Given the description of an element on the screen output the (x, y) to click on. 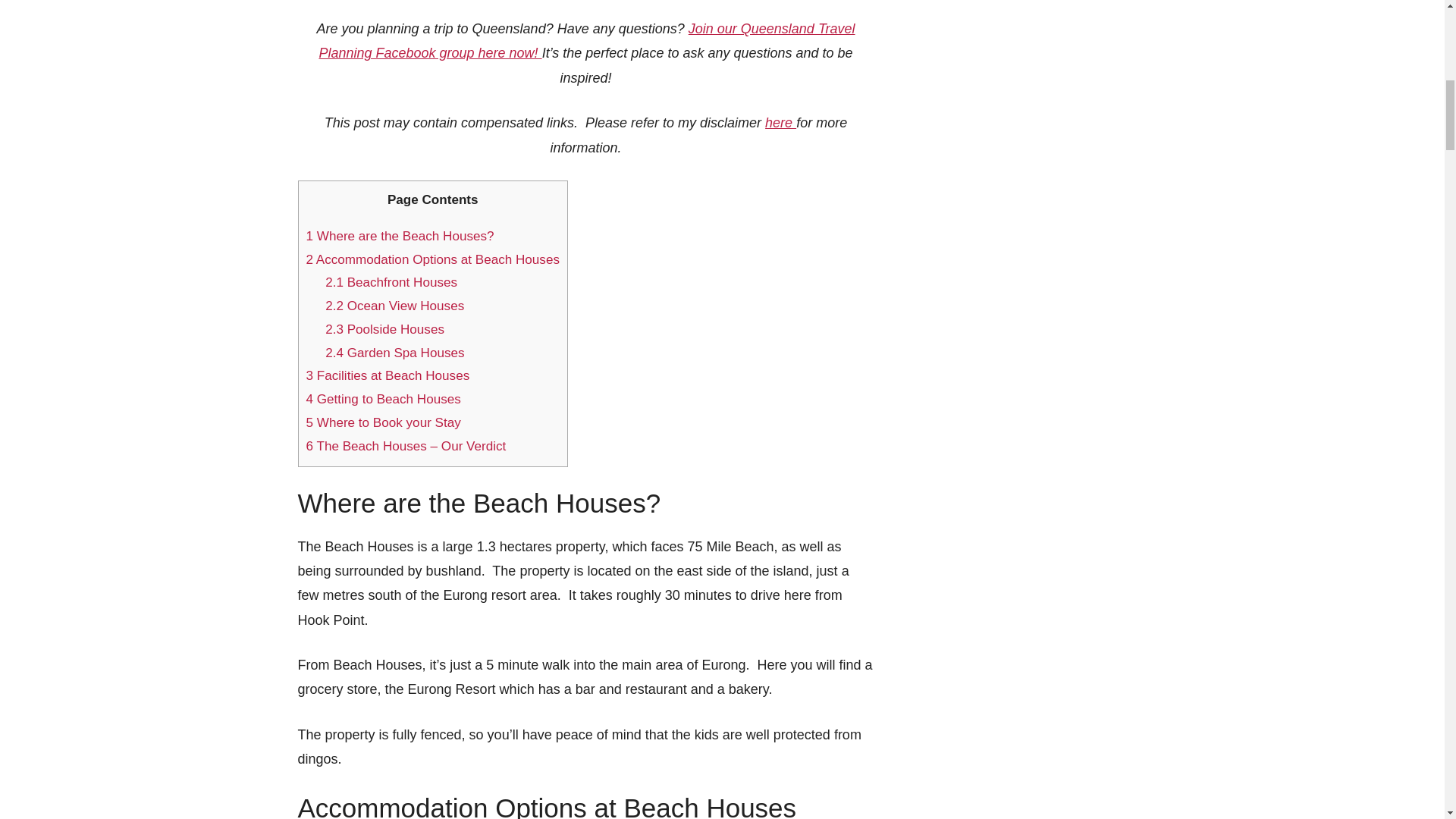
3 Facilities at Beach Houses (387, 375)
2.3 Poolside Houses (384, 329)
here  (780, 122)
2 Accommodation Options at Beach Houses (432, 259)
1 Where are the Beach Houses? (400, 236)
2.1 Beachfront Houses (390, 282)
2.2 Ocean View Houses (394, 305)
2.4 Garden Spa Houses (394, 352)
